Given the description of an element on the screen output the (x, y) to click on. 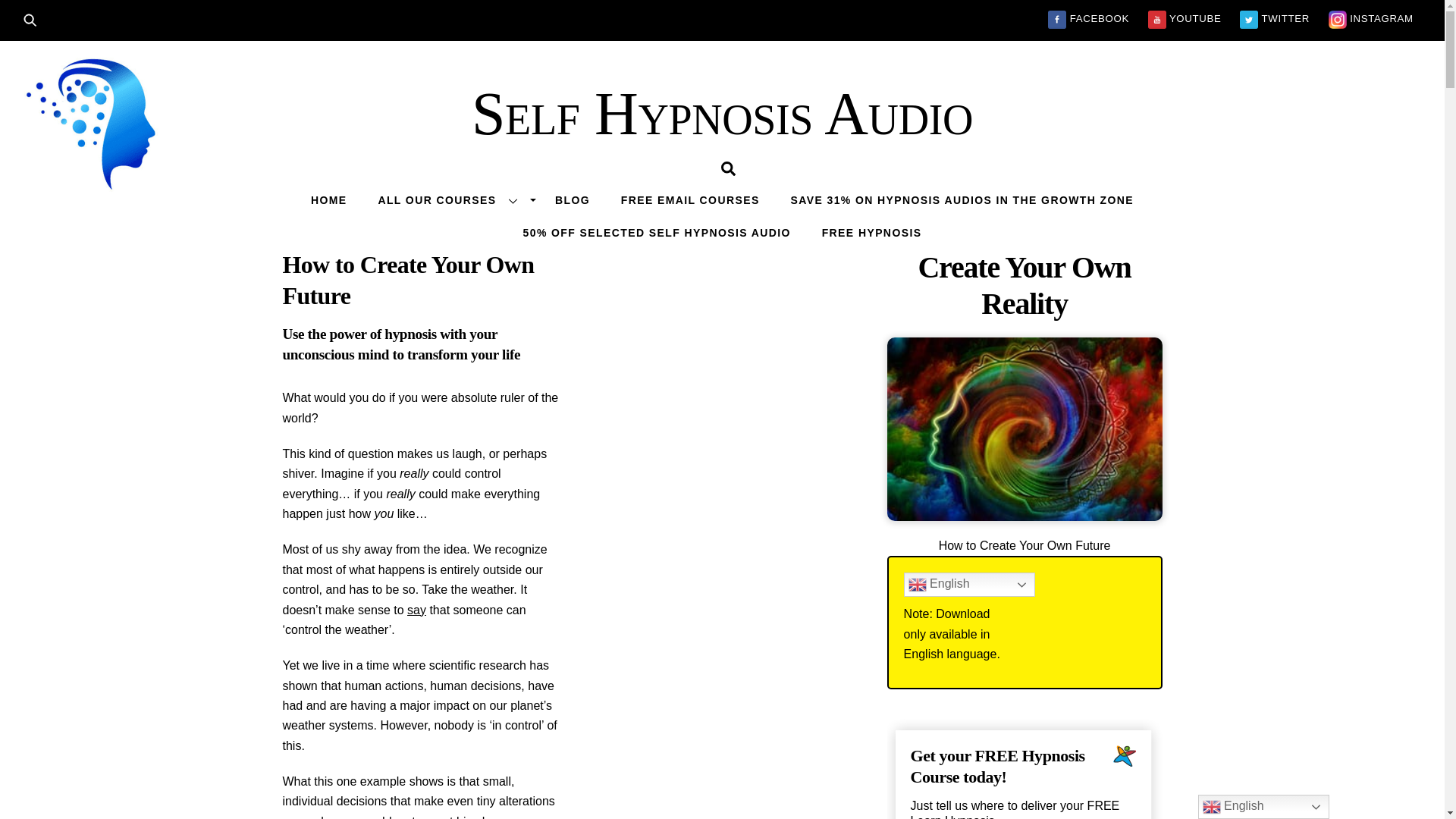
create-reality (1023, 428)
TWITTER (1274, 18)
YOUTUBE (1184, 18)
ALL OUR COURSES (450, 199)
INSTAGRAM (1370, 18)
Search (727, 168)
FACEBOOK (1088, 18)
HOME (328, 199)
Search (35, 18)
Self Hypnosis Audio (721, 113)
Self Hypnosis Audio (721, 113)
